Given the description of an element on the screen output the (x, y) to click on. 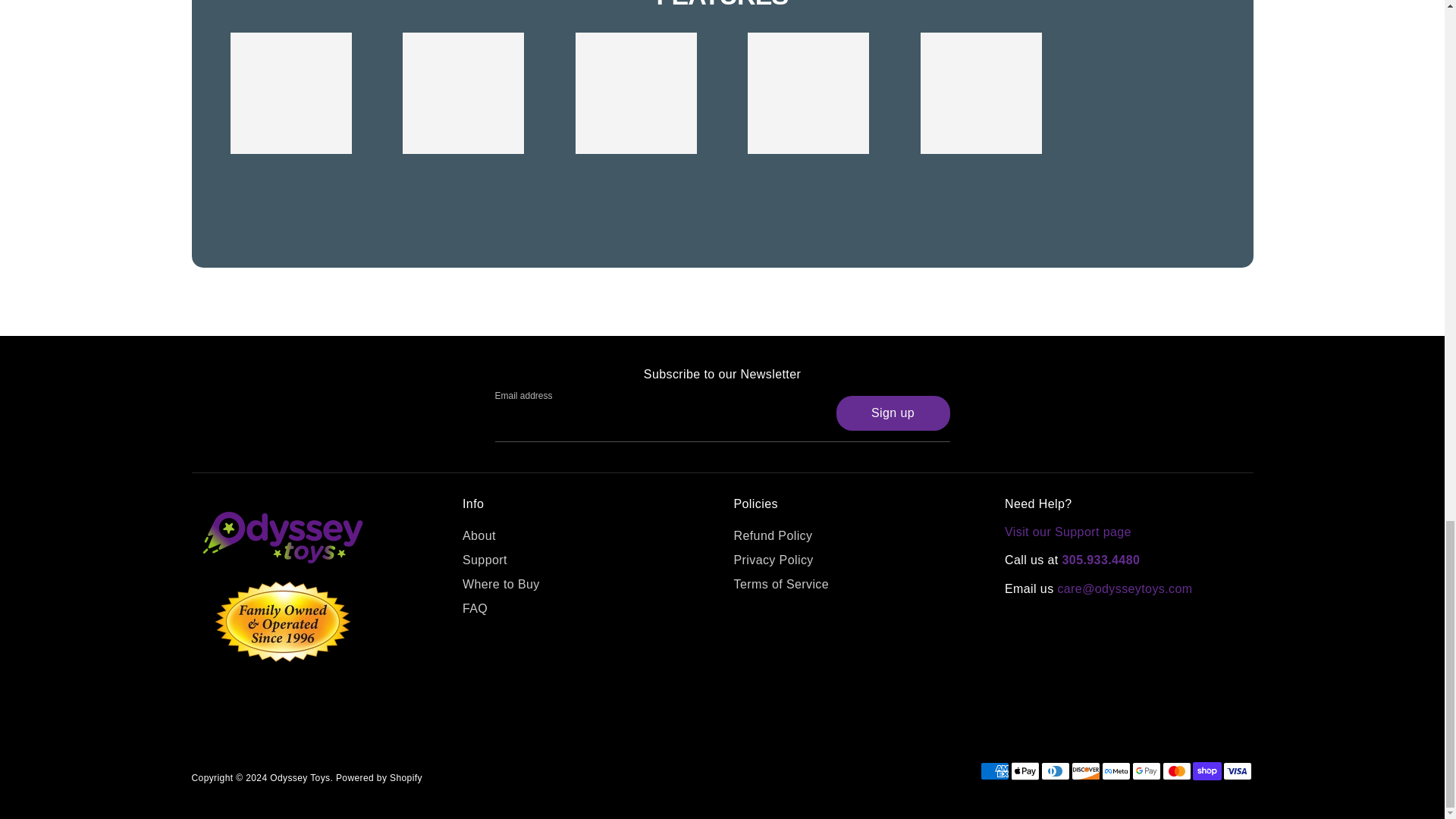
Support (1067, 531)
Google Pay (1145, 771)
Discover (1084, 771)
Visa (1236, 771)
Mastercard (1176, 771)
Shop Pay (1206, 771)
Apple Pay (1024, 771)
Diners Club (1054, 771)
Meta Pay (1114, 771)
American Express (994, 771)
